Given the description of an element on the screen output the (x, y) to click on. 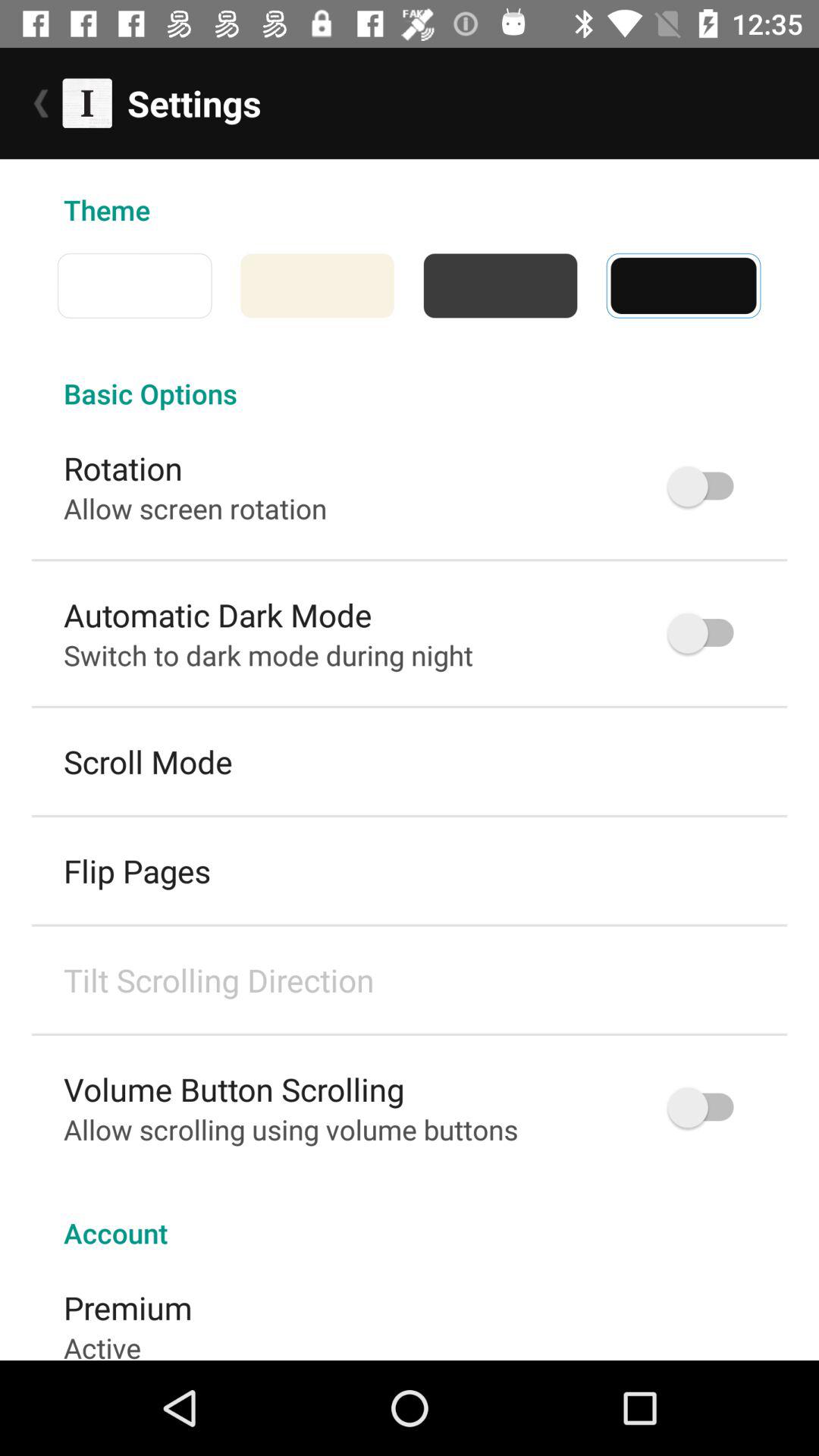
flip until the switch to dark (268, 654)
